Given the description of an element on the screen output the (x, y) to click on. 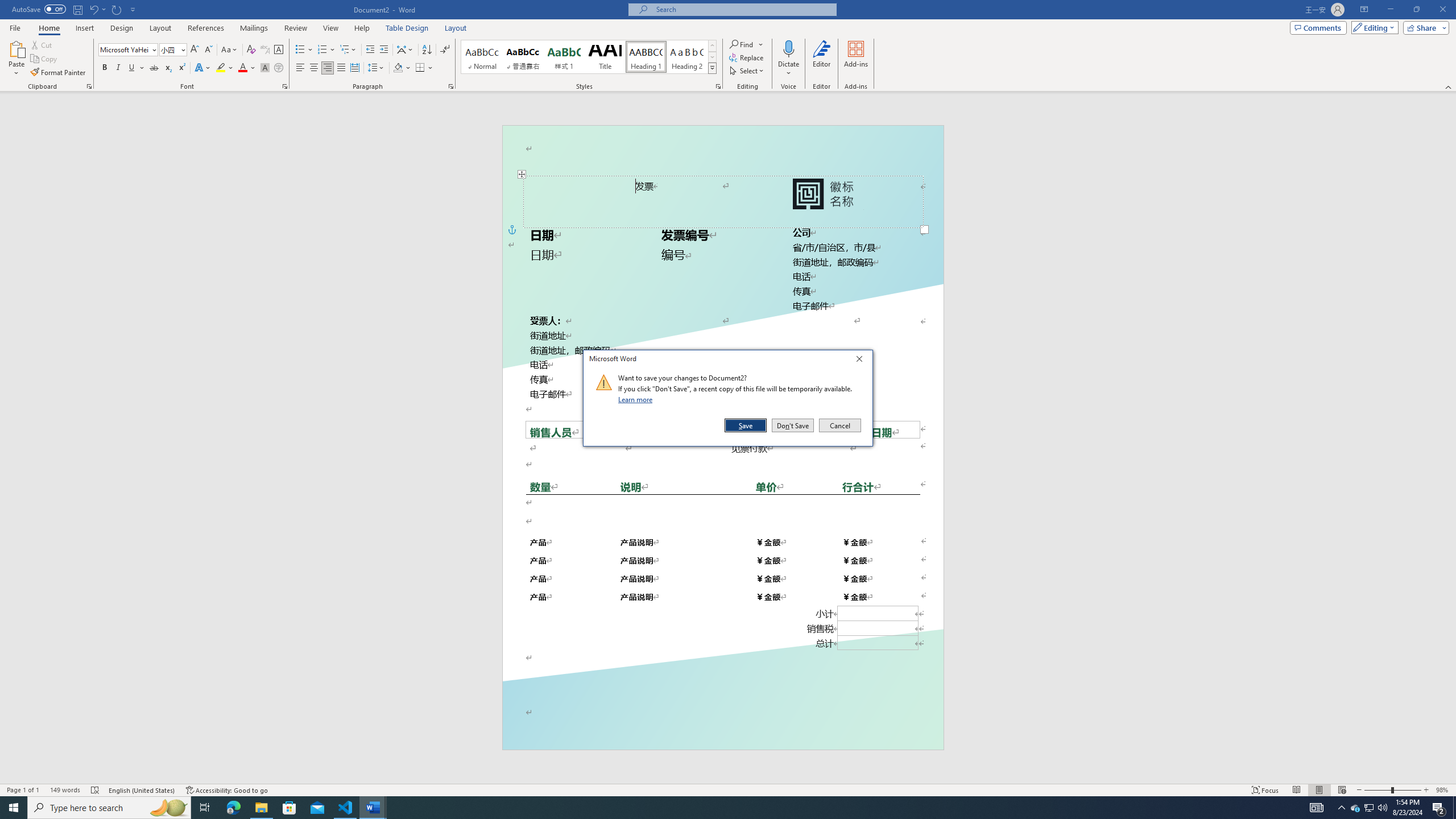
Zoom 98% (1443, 790)
